Given the description of an element on the screen output the (x, y) to click on. 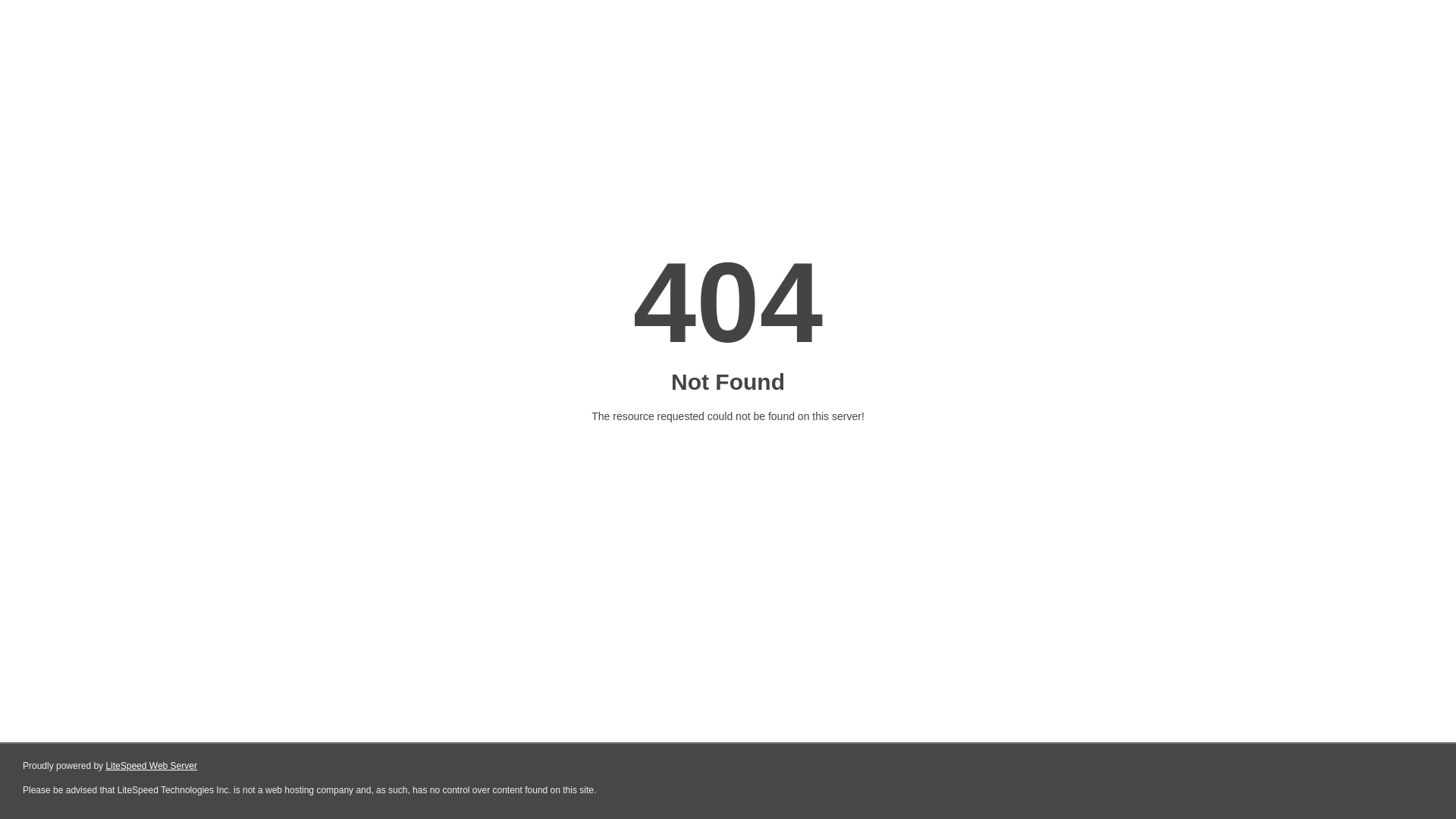
LiteSpeed Web Server Element type: text (151, 765)
